Given the description of an element on the screen output the (x, y) to click on. 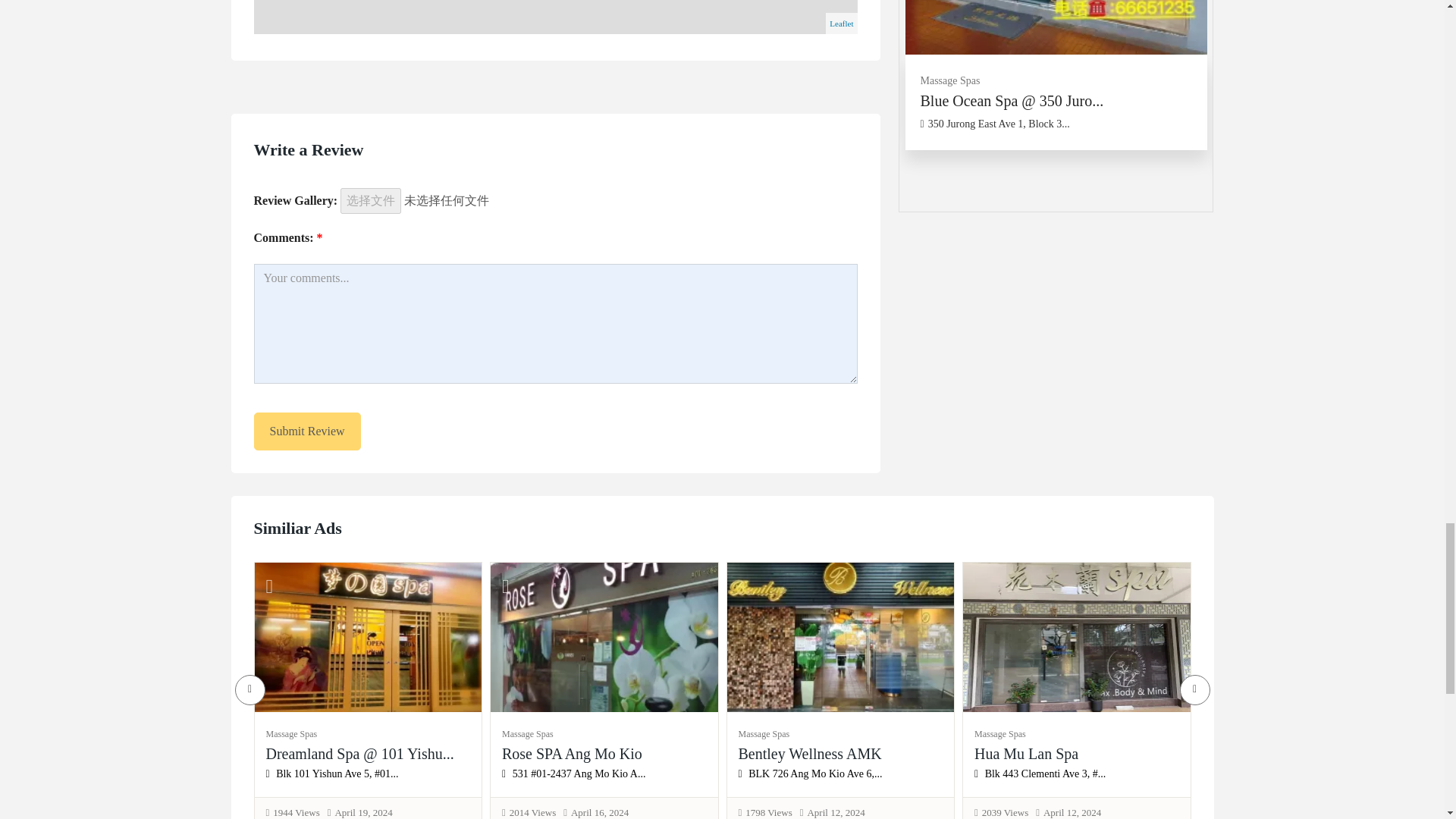
Submit Review (306, 431)
